Given the description of an element on the screen output the (x, y) to click on. 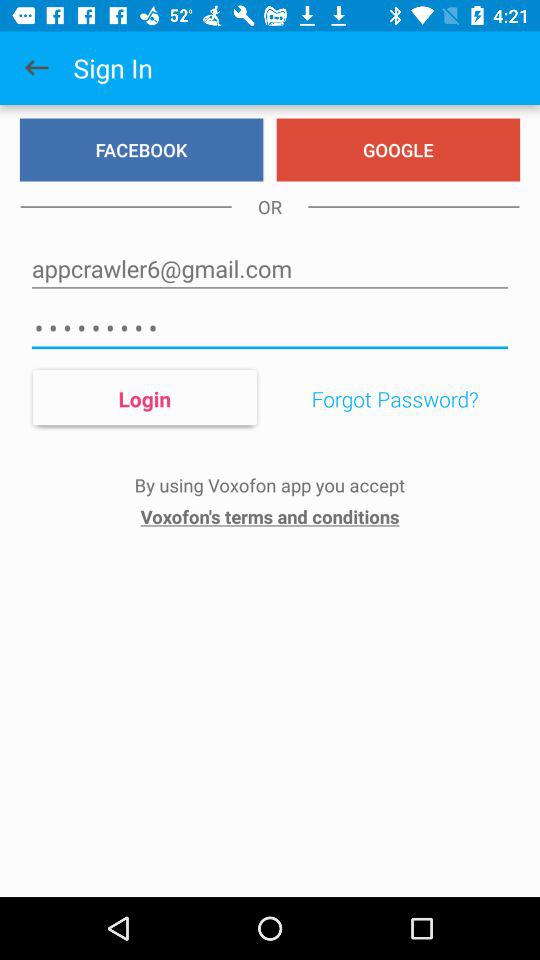
press item above the crowd3116 (269, 268)
